Given the description of an element on the screen output the (x, y) to click on. 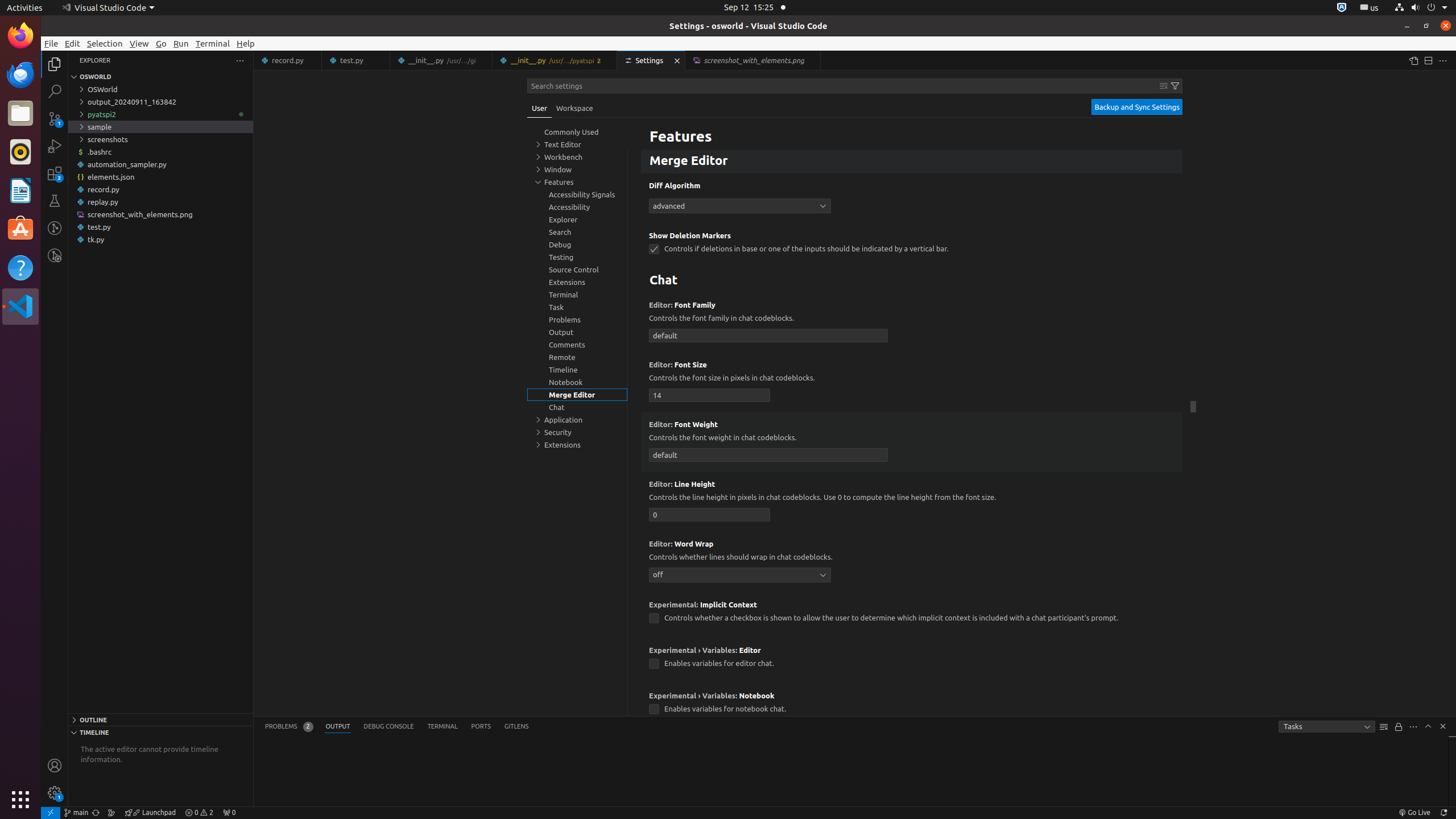
Task, group Element type: tree-item (577, 306)
output_20240911_163842 Element type: tree-item (160, 101)
chat.experimental.variables.notebook Element type: check-box (653, 709)
.bashrc Element type: tree-item (160, 151)
Editor Font Family. Controls the font family in chat codeblocks.  Element type: tree-item (911, 322)
